Given the description of an element on the screen output the (x, y) to click on. 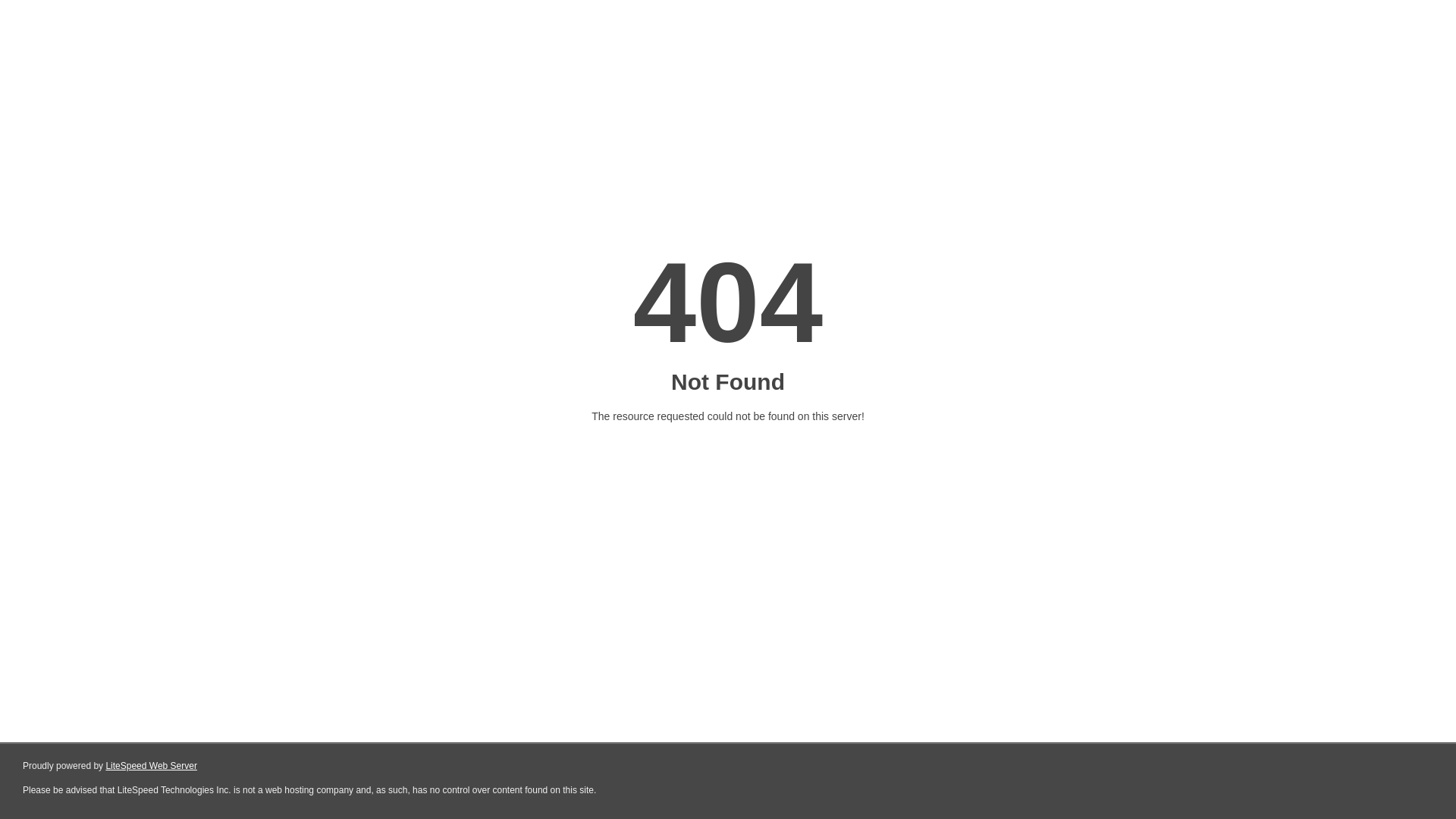
LiteSpeed Web Server Element type: text (151, 765)
